Given the description of an element on the screen output the (x, y) to click on. 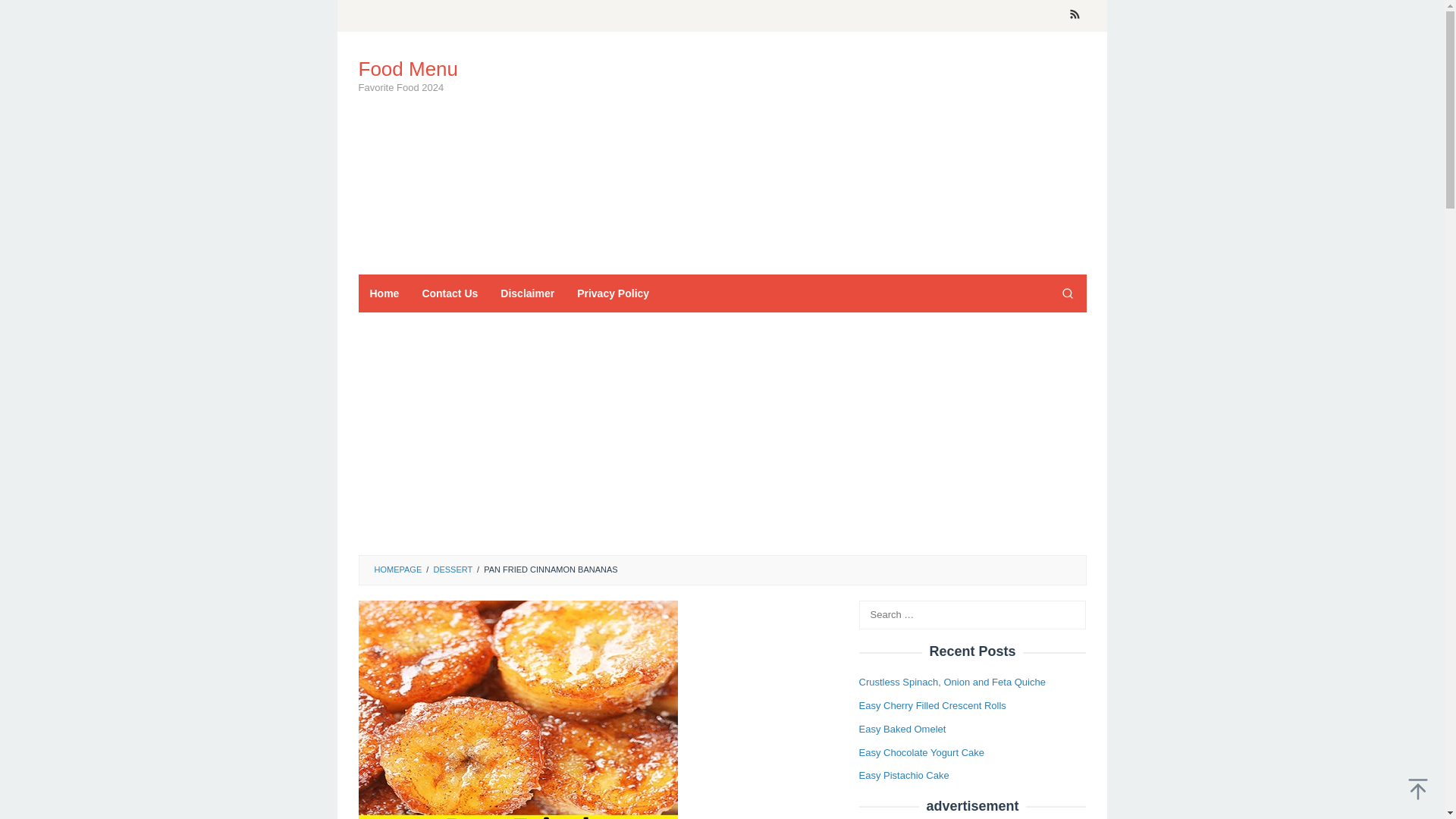
DESSERT (451, 569)
Search (1067, 293)
Pan Fried Cinnamon Bananas (517, 709)
Advertisement (809, 152)
Contact Us (449, 293)
Search (26, 14)
HOMEPAGE (398, 569)
Disclaimer (527, 293)
Crustless Spinach, Onion and Feta Quiche (952, 681)
